Given the description of an element on the screen output the (x, y) to click on. 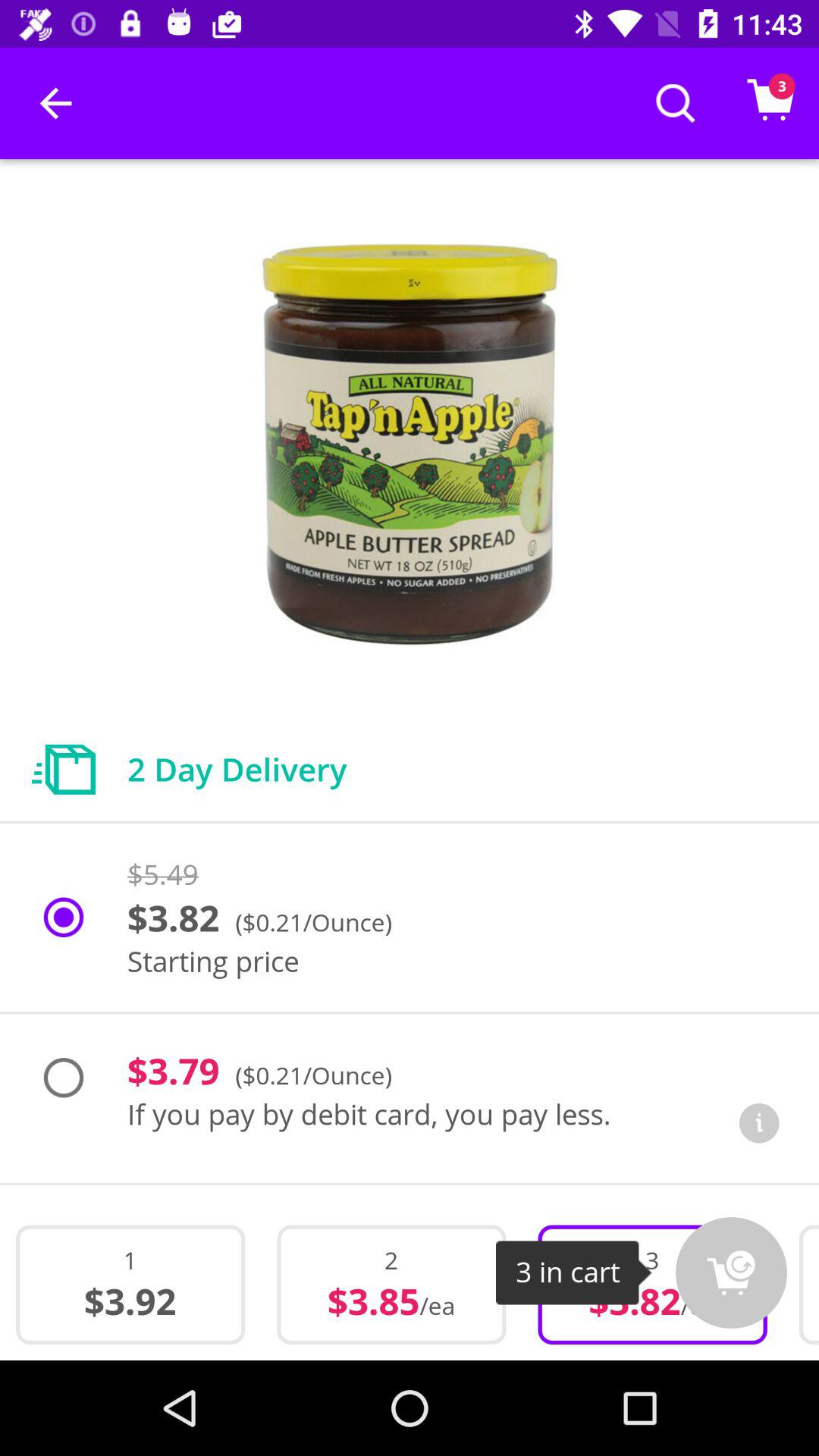
turn off icon to the right of the 3 icon (731, 1272)
